Given the description of an element on the screen output the (x, y) to click on. 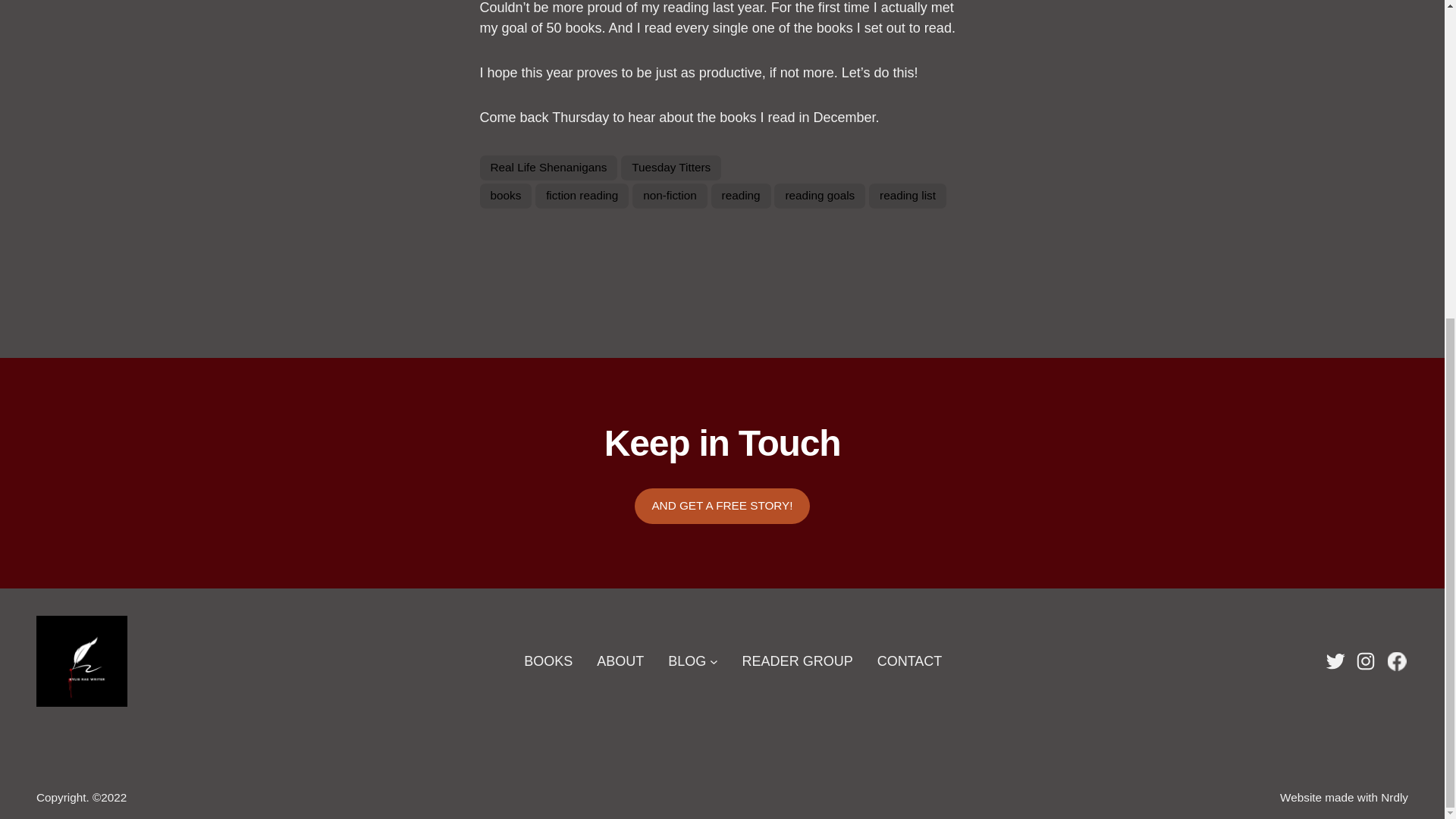
Website made with Nrdly (1343, 797)
Tuesday Titters (670, 167)
Instagram (1365, 661)
reading (741, 195)
Facebook (1396, 661)
Twitter (1334, 661)
BOOKS (548, 661)
fiction reading (581, 195)
READER GROUP (797, 661)
ABOUT (619, 661)
reading goals (819, 195)
books (505, 195)
non-fiction (669, 195)
CONTACT (909, 661)
AND GET A FREE STORY! (721, 506)
